Given the description of an element on the screen output the (x, y) to click on. 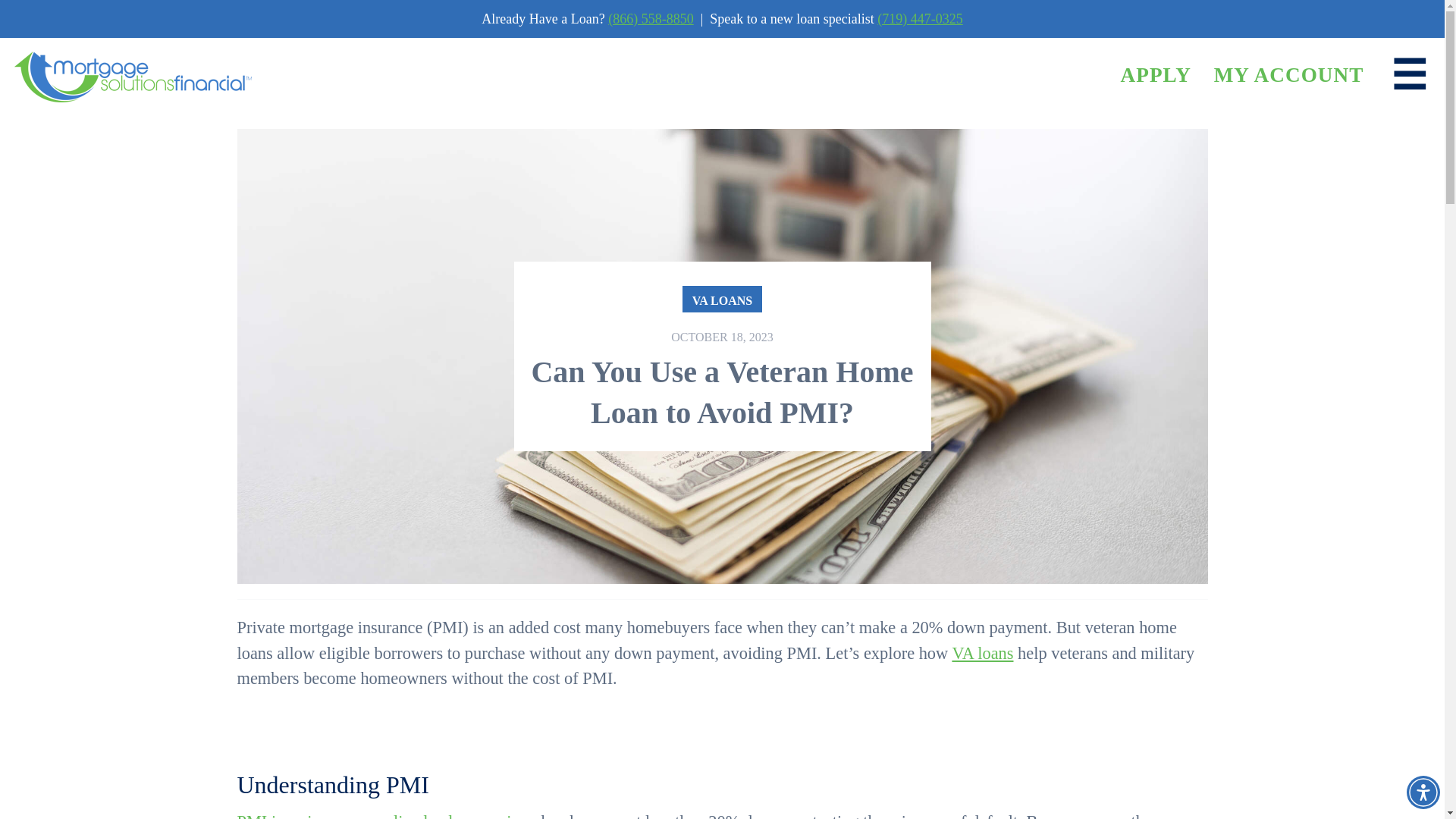
PMI is an insurance policy lenders require (379, 815)
MY ACCOUNT (1289, 74)
VA LOANS (721, 298)
Login to My Account! (1289, 74)
Accessibility Menu (1422, 792)
Apply for a Loan Today! Find out how. (1155, 74)
VA loans (982, 652)
APPLY (1155, 74)
